Given the description of an element on the screen output the (x, y) to click on. 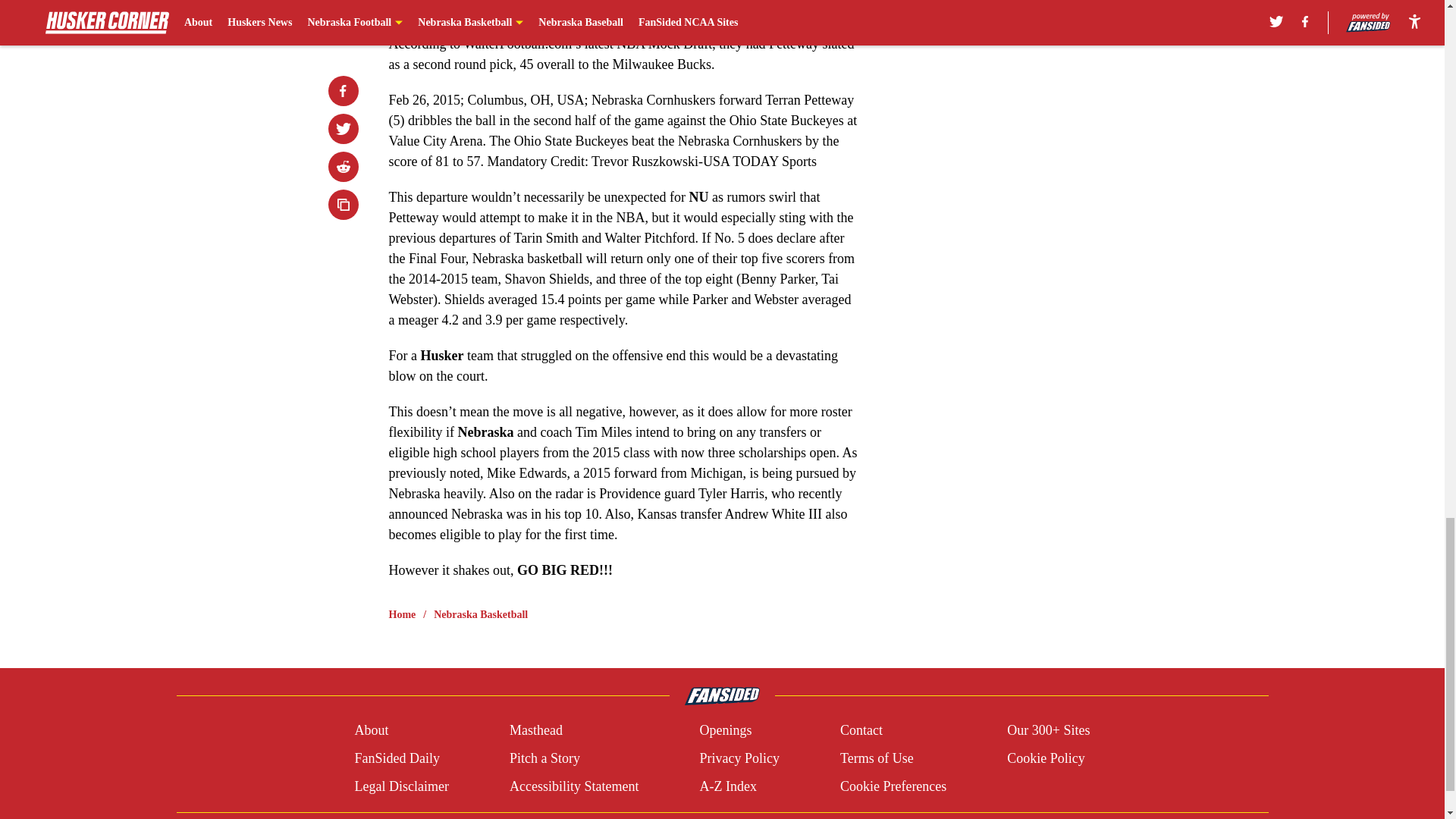
Privacy Policy (738, 758)
April 3, 2015 (625, 2)
About (370, 730)
FanSided Daily (396, 758)
Masthead (535, 730)
Home (401, 614)
Contact (861, 730)
Pitch a Story (544, 758)
Legal Disclaimer (400, 786)
Terms of Use (877, 758)
Cookie Policy (1045, 758)
Openings (724, 730)
Accessibility Statement (574, 786)
Nebraska Basketball (480, 614)
